Given the description of an element on the screen output the (x, y) to click on. 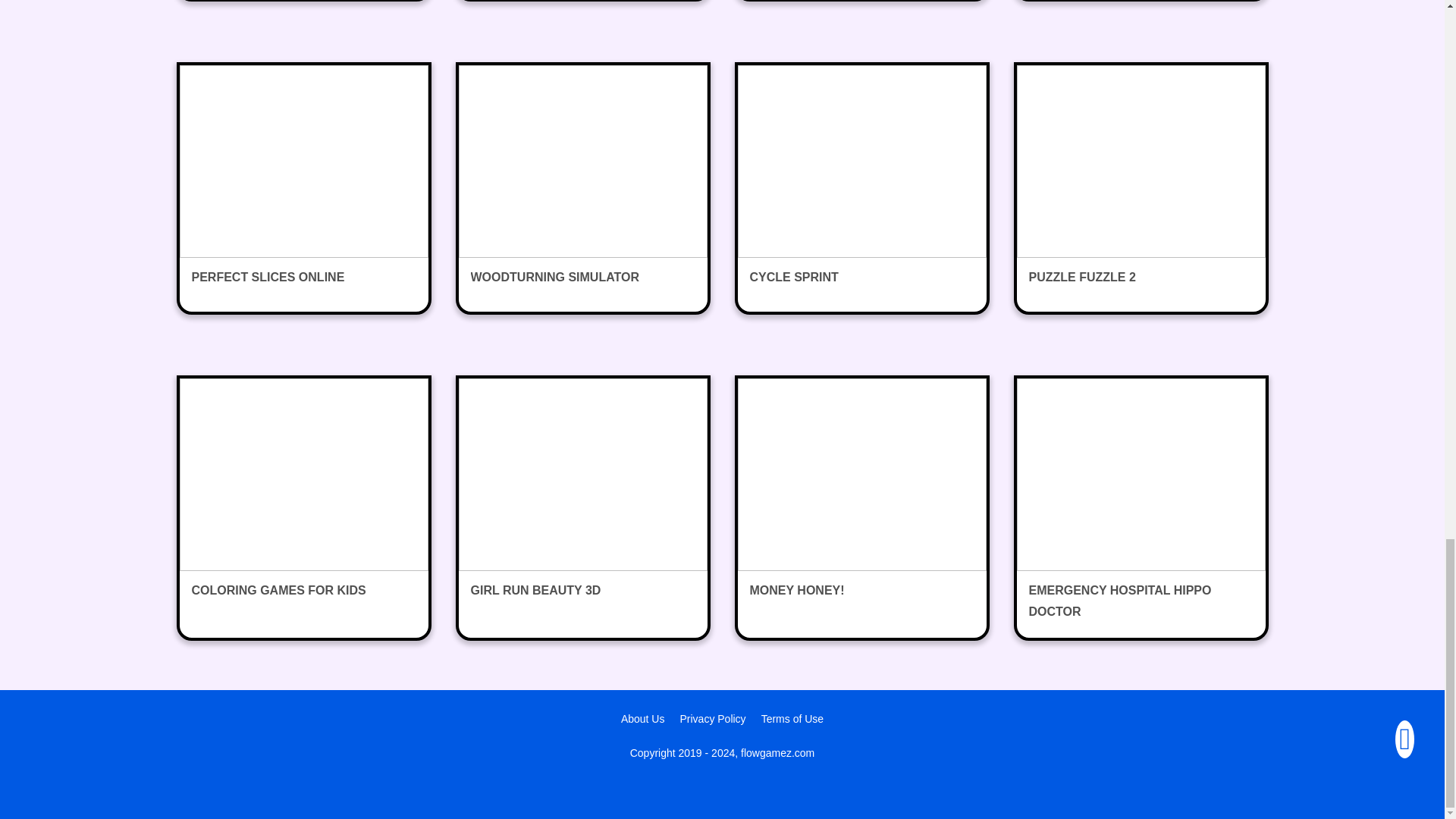
EMERGENCY HOSPITAL HIPPO DOCTOR (1140, 508)
WOODTURNING SIMULATOR (582, 188)
COLORING GAMES FOR KIDS (303, 501)
PUZZLE FUZZLE 2 (1140, 188)
PERFECT SLICES ONLINE (303, 188)
GIRL RUN BEAUTY 3D (582, 501)
MONEY HONEY! (860, 501)
CYCLE SPRINT (860, 188)
